Given the description of an element on the screen output the (x, y) to click on. 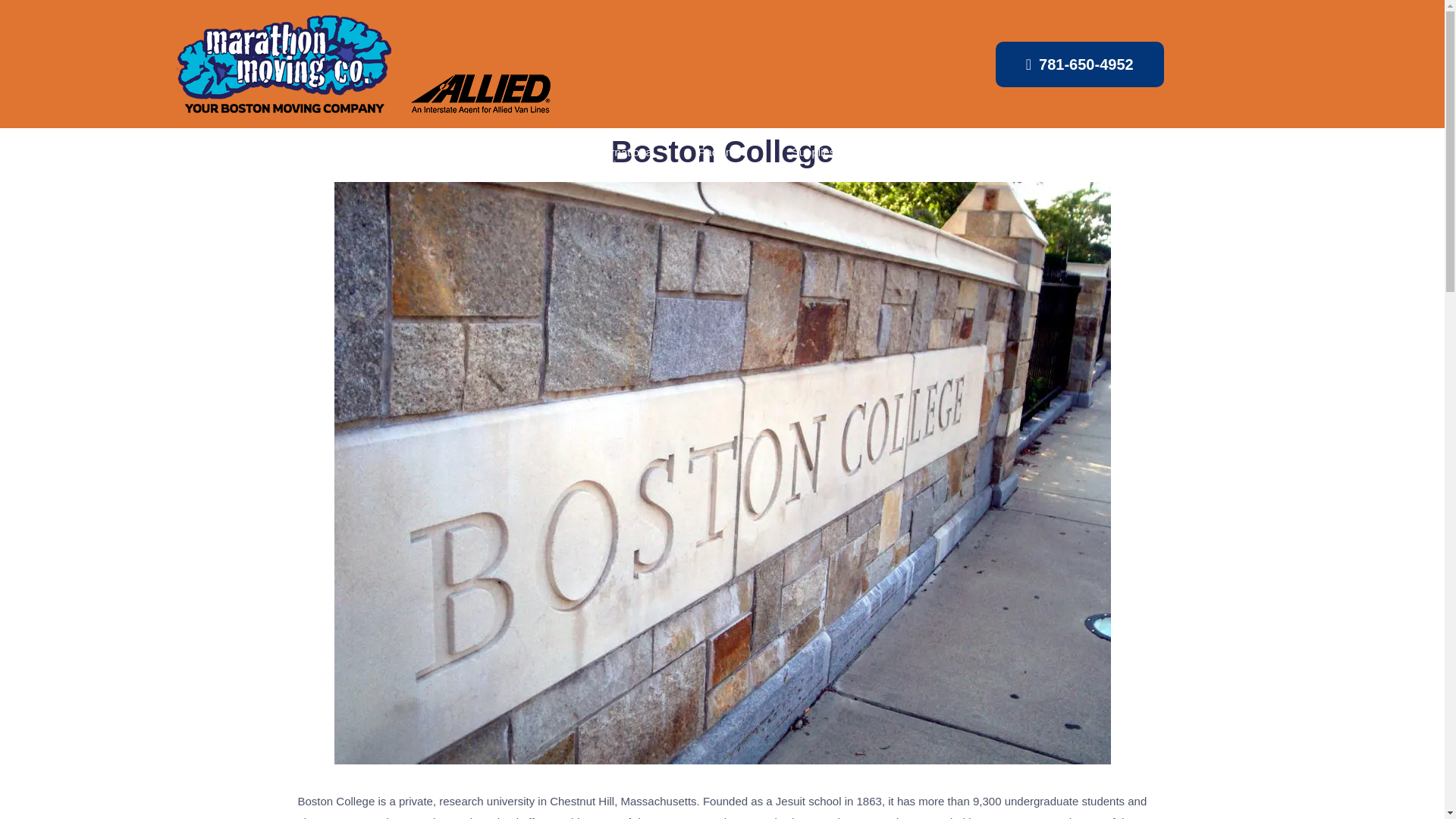
Interstate Moving  (421, 158)
Service area  (894, 158)
Service area (894, 158)
Interstate Moving (421, 158)
Local Moving (333, 158)
Moving Services (109, 158)
Packing Services (727, 158)
Supplies (815, 151)
Moving Resources (1175, 158)
Home (28, 151)
